Given the description of an element on the screen output the (x, y) to click on. 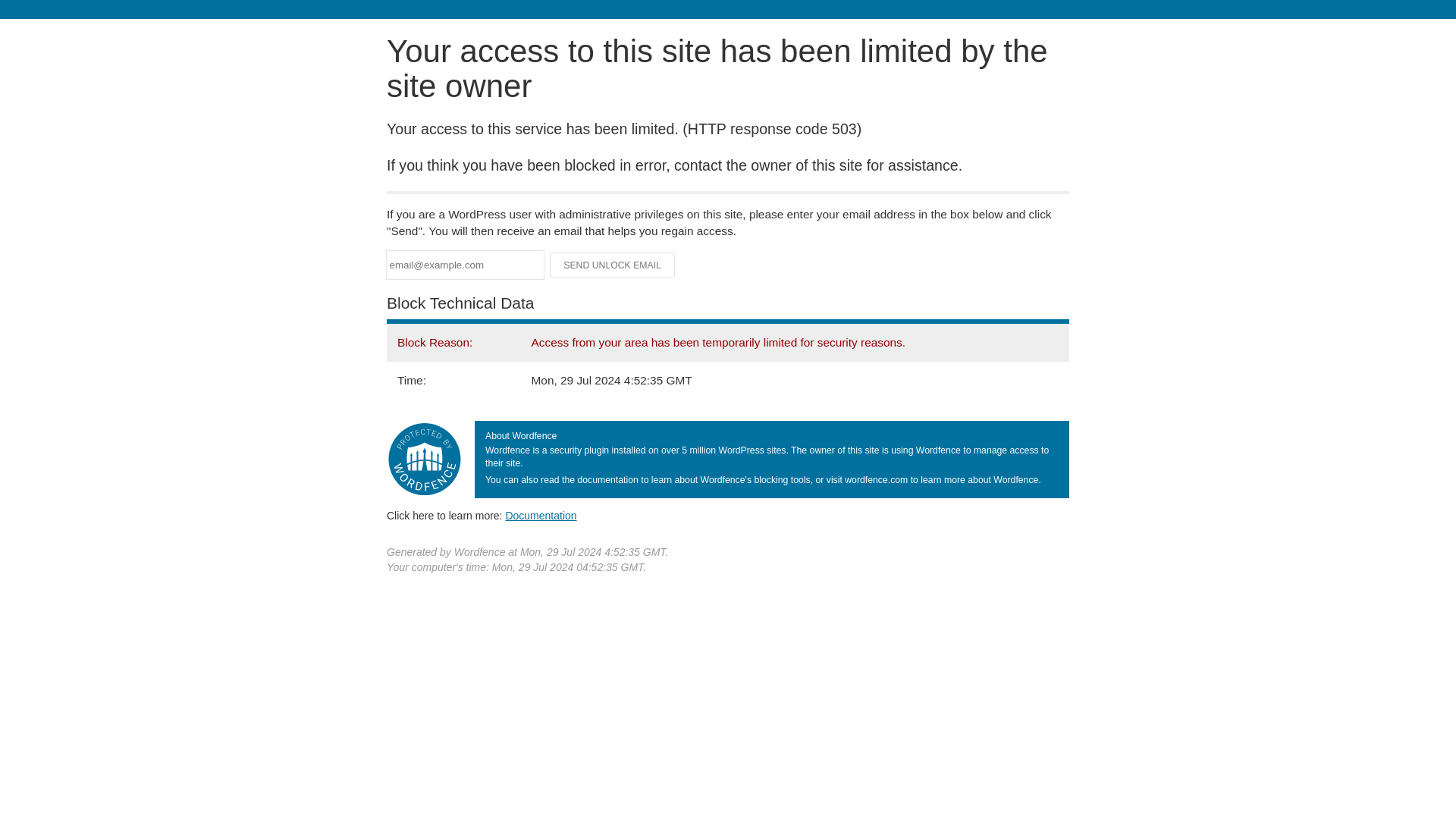
Send Unlock Email (612, 265)
Send Unlock Email (612, 265)
Documentation (540, 515)
